Given the description of an element on the screen output the (x, y) to click on. 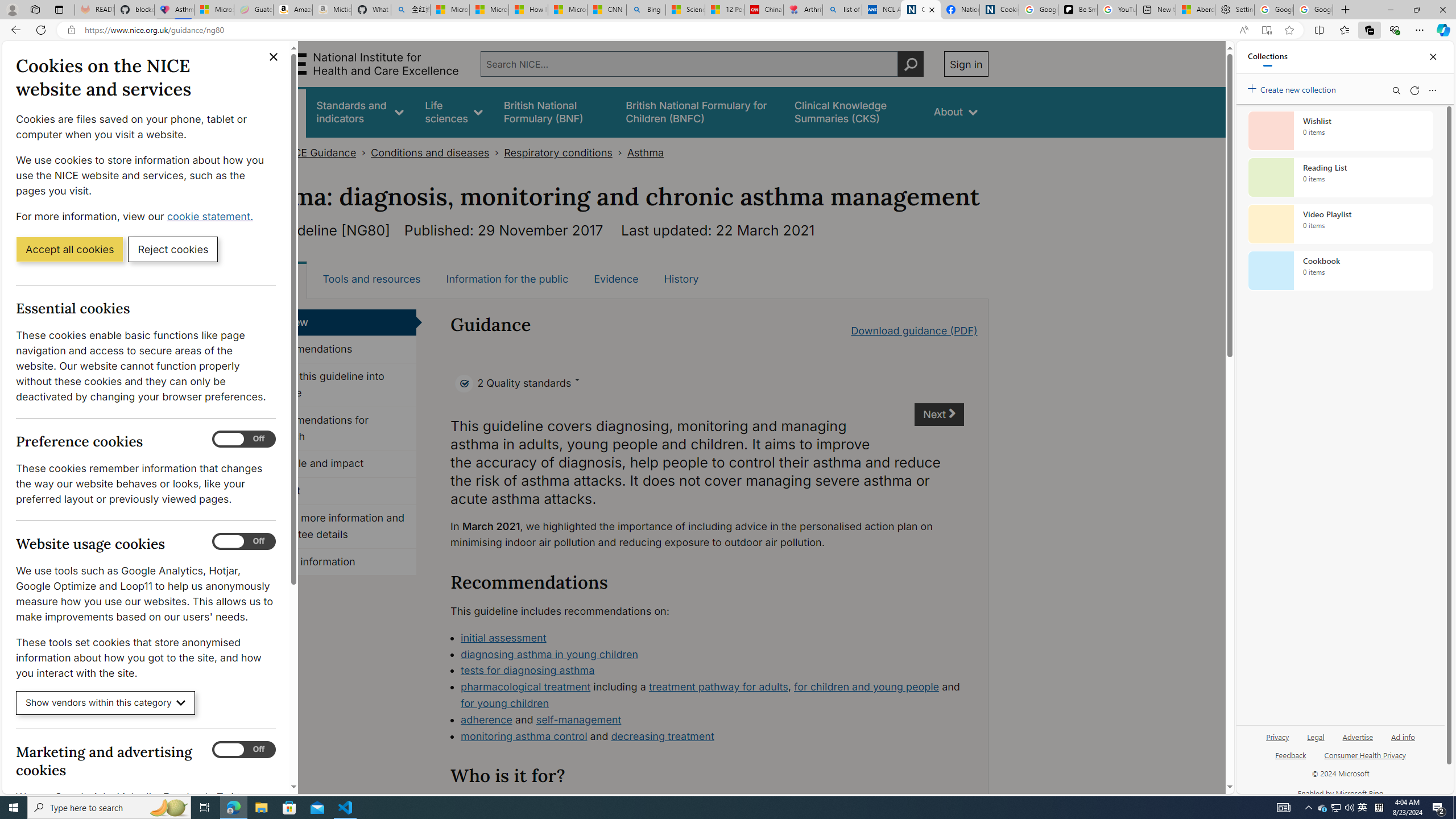
Recommendations for research (333, 428)
Asthma (644, 152)
Show vendors within this category (105, 703)
Be Smart | creating Science videos | Patreon (1077, 9)
Update information (333, 561)
Accept all cookies (69, 248)
